Given the description of an element on the screen output the (x, y) to click on. 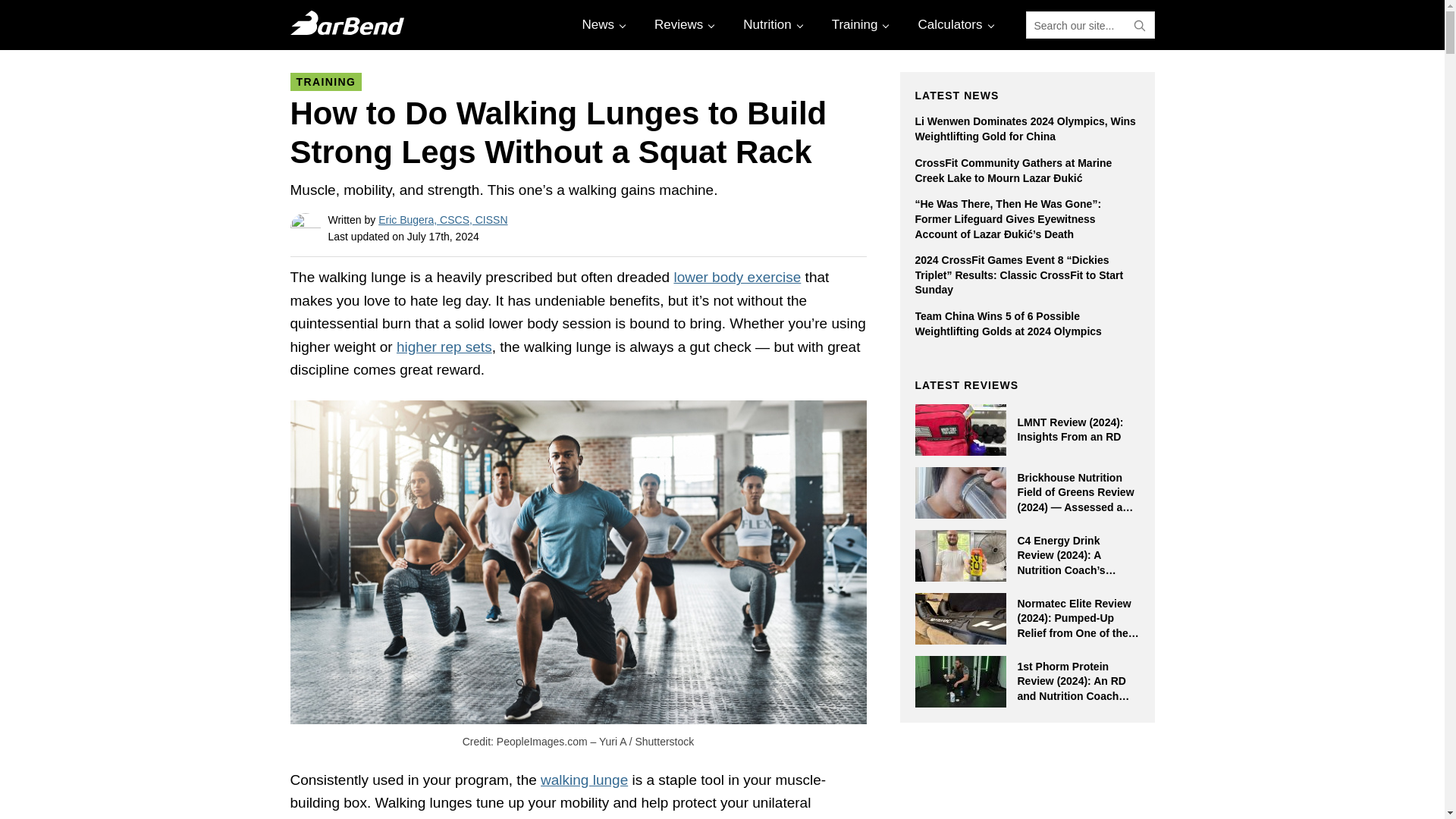
Reviews (682, 24)
News (602, 24)
